Given the description of an element on the screen output the (x, y) to click on. 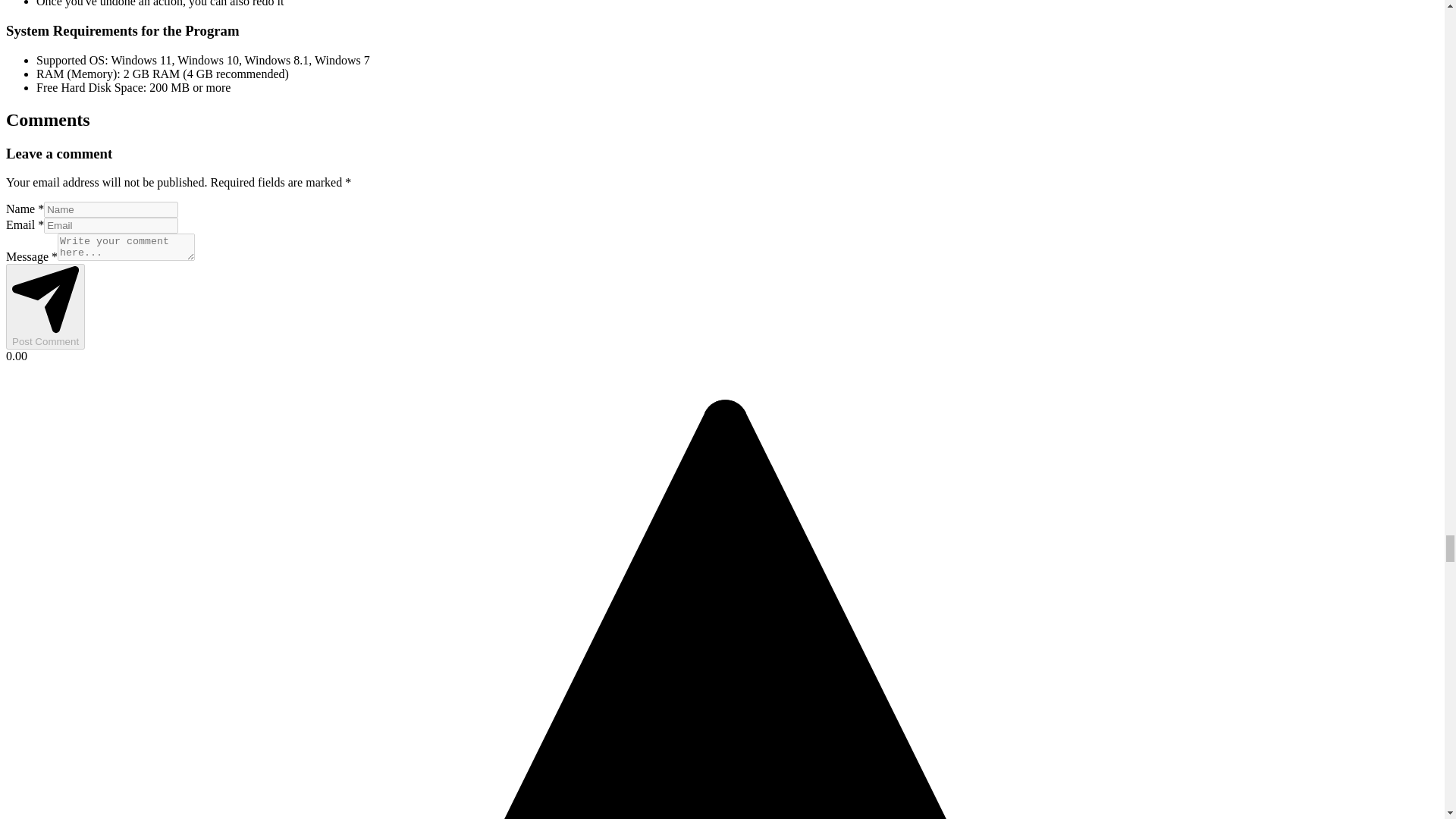
Post Comment (44, 305)
